Given the description of an element on the screen output the (x, y) to click on. 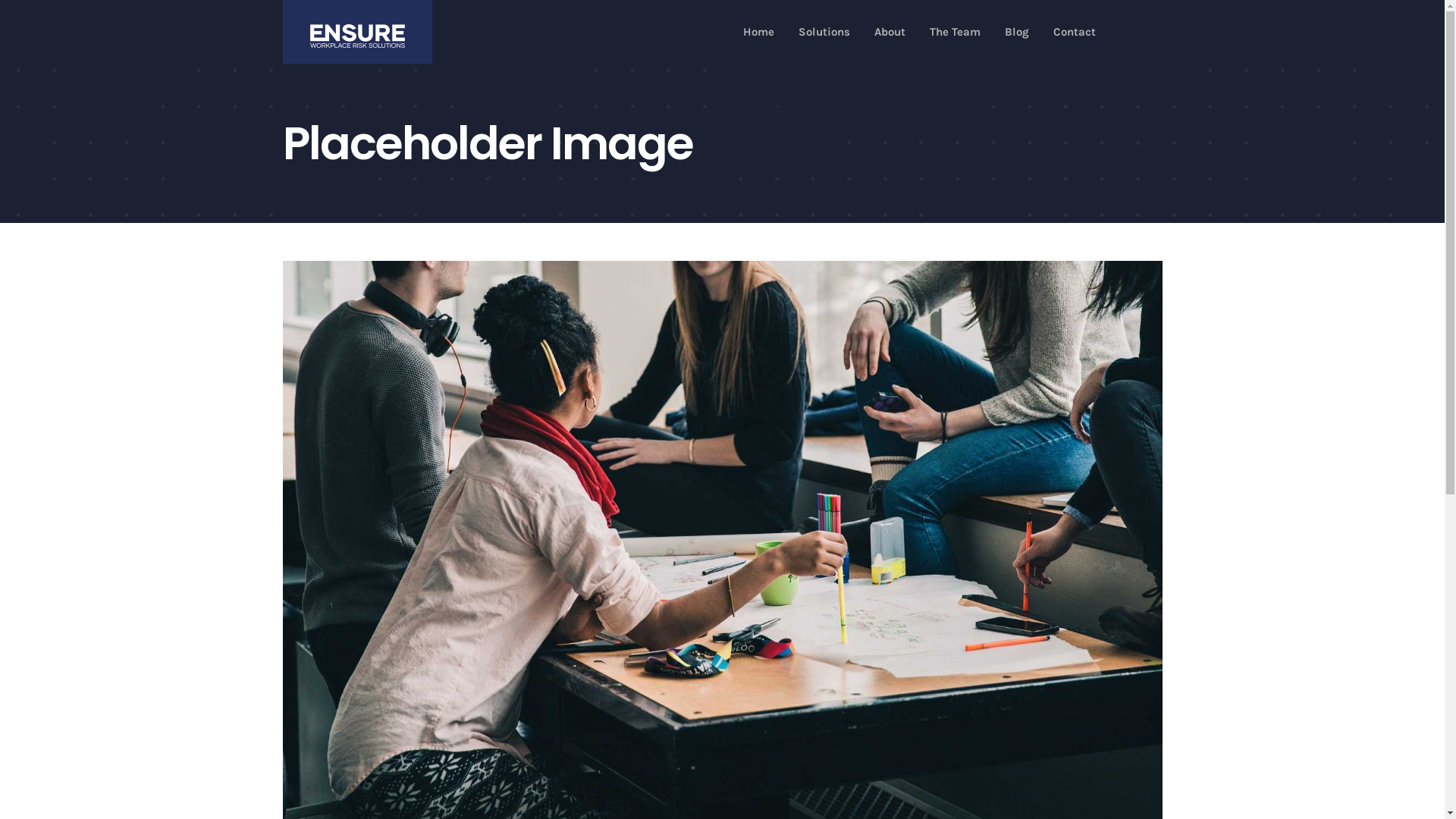
The Team Element type: text (954, 31)
Home Element type: text (758, 31)
About Element type: text (889, 31)
Blog Element type: text (1016, 31)
Contact Element type: text (1074, 31)
Solutions Element type: text (824, 31)
